Given the description of an element on the screen output the (x, y) to click on. 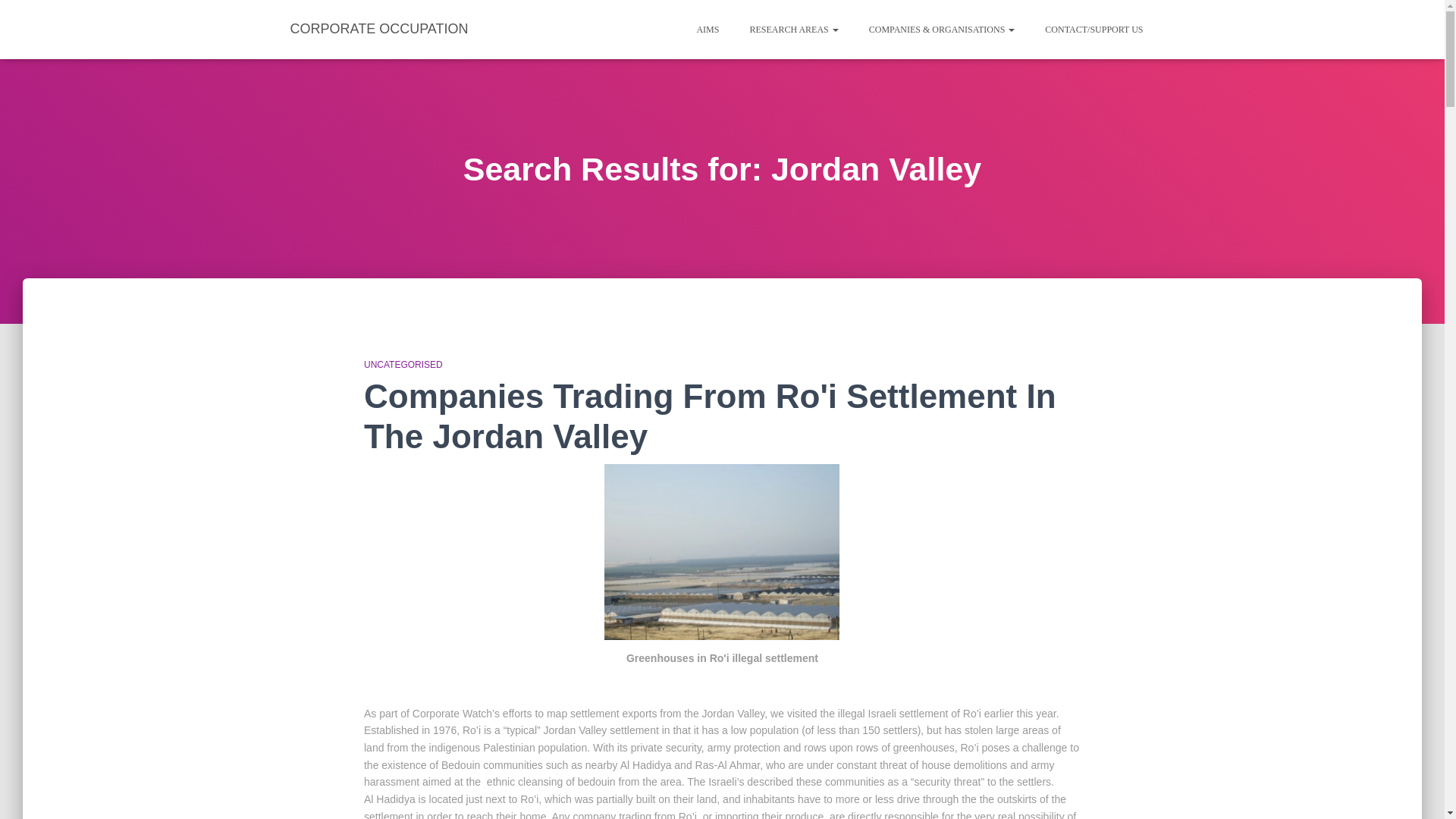
CORPORATE OCCUPATION (379, 29)
Research Areas (793, 29)
corporate occupation (379, 29)
Aims (707, 29)
RESEARCH AREAS (793, 29)
AIMS (707, 29)
